Given the description of an element on the screen output the (x, y) to click on. 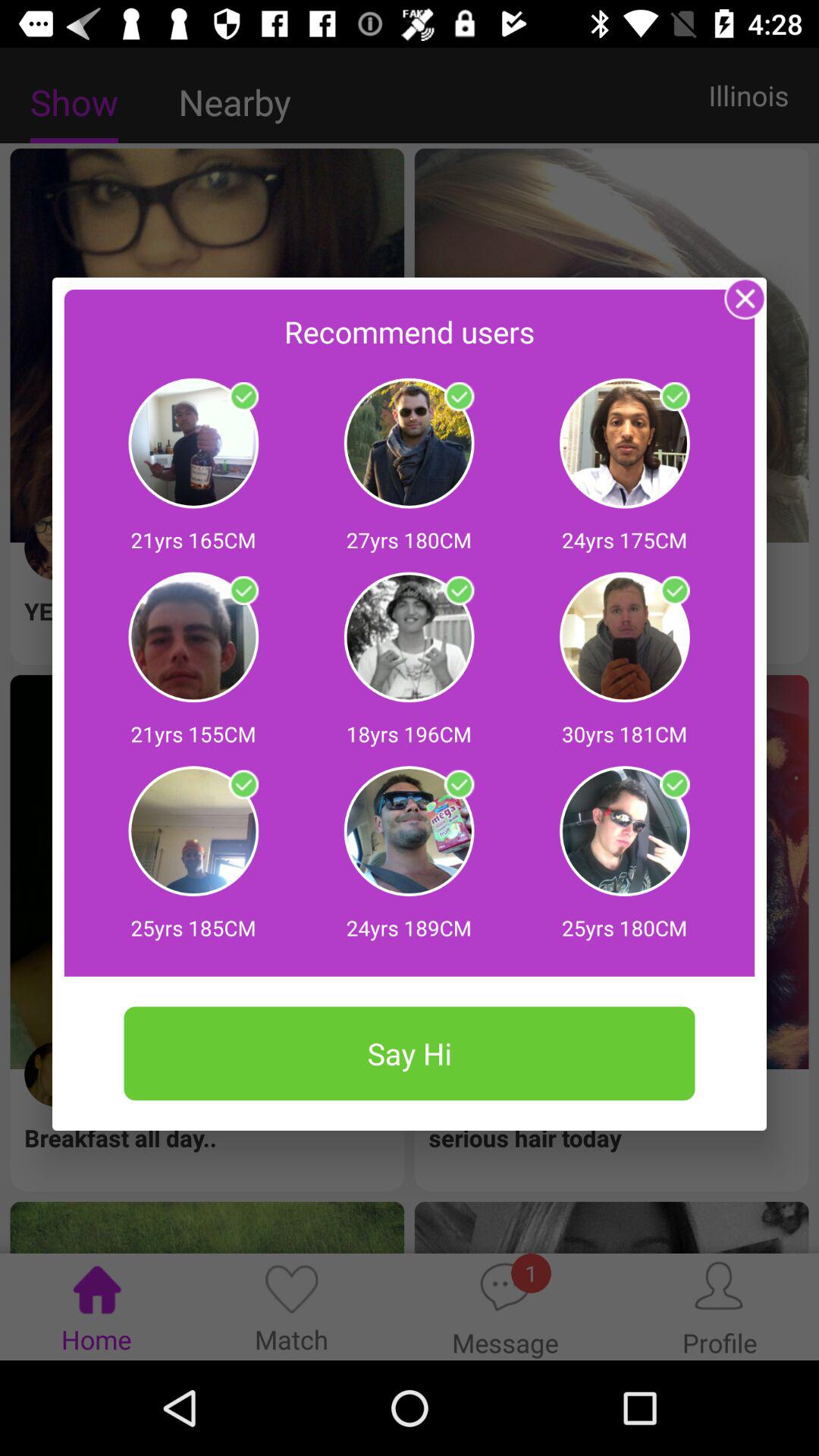
select/deselect option (674, 590)
